Given the description of an element on the screen output the (x, y) to click on. 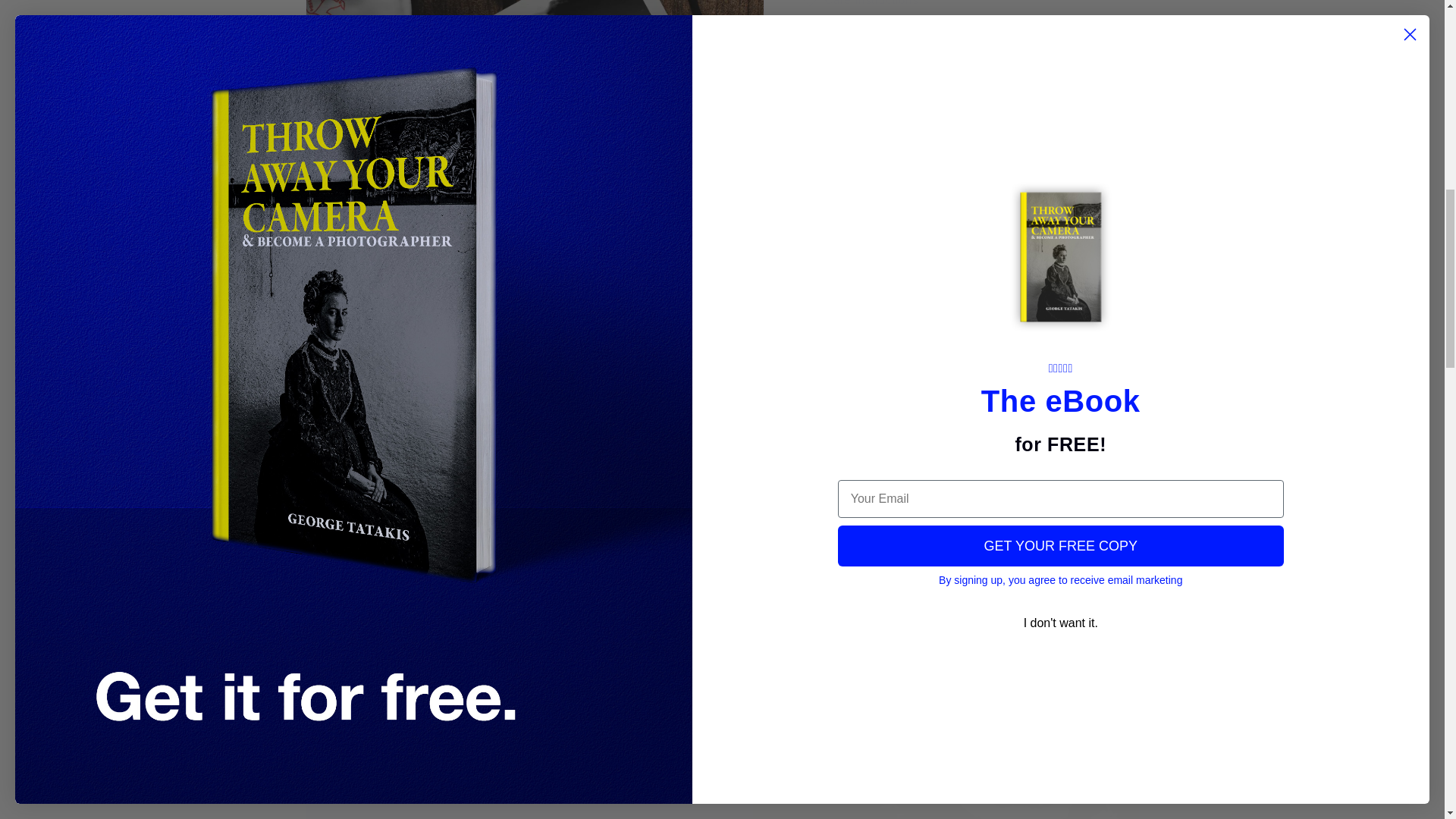
0 (1058, 471)
0 (722, 570)
0 (553, 570)
0 (1058, 570)
0 (385, 471)
0 (722, 471)
0 (385, 570)
0 (890, 570)
0 (553, 471)
0 (890, 471)
